Given the description of an element on the screen output the (x, y) to click on. 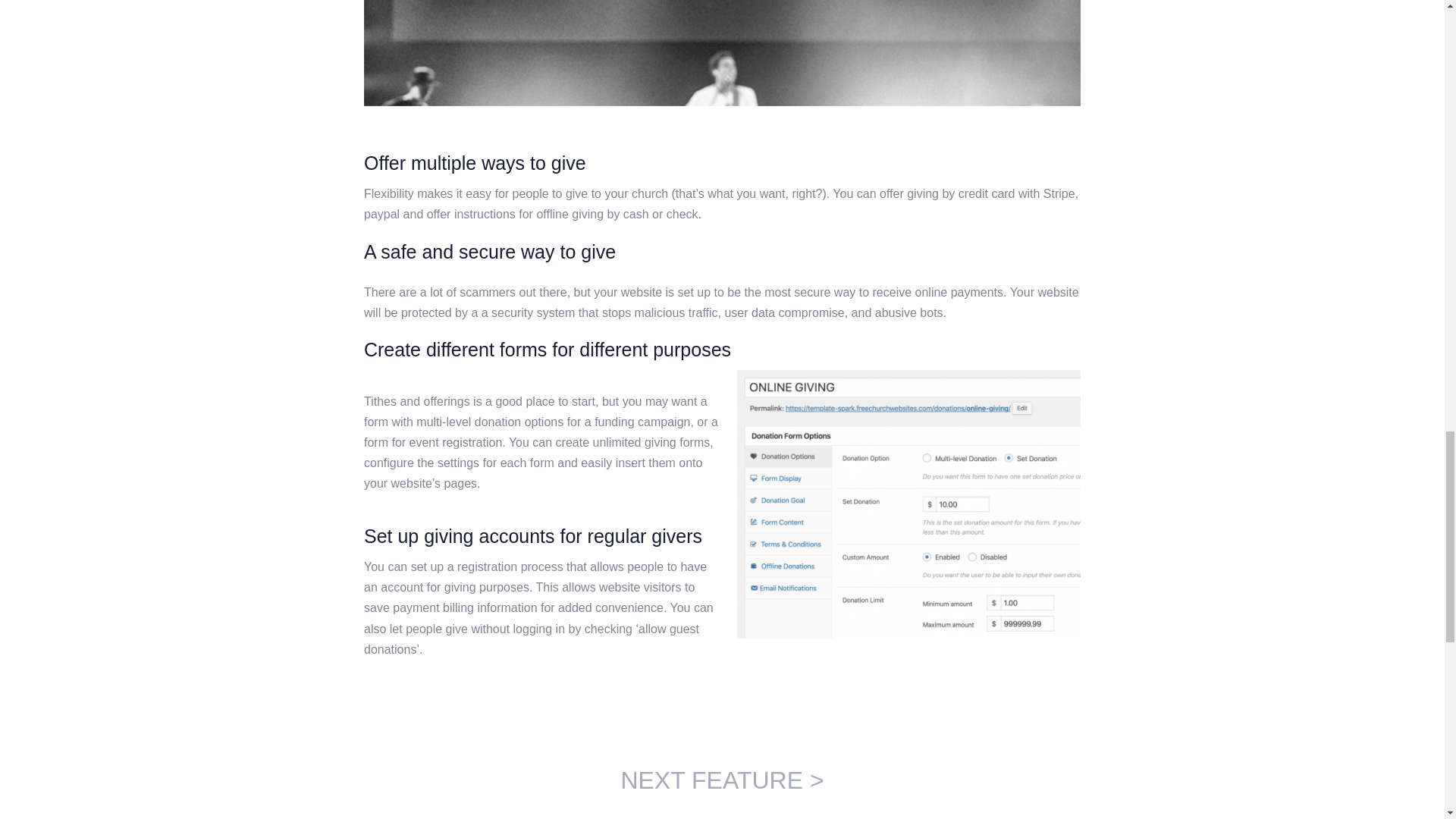
Sermon Management (722, 779)
GetStarted (722, 55)
